Given the description of an element on the screen output the (x, y) to click on. 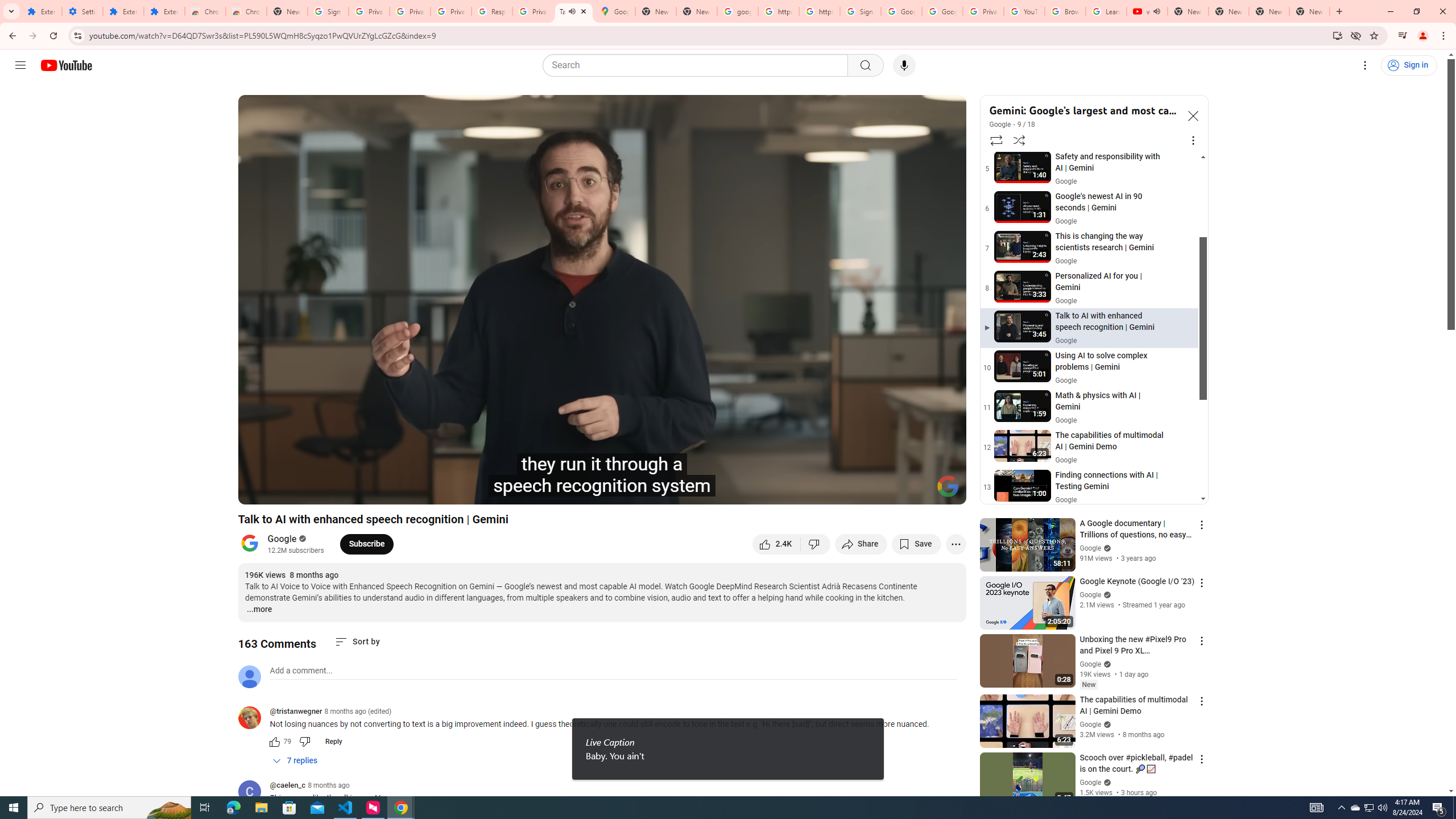
Google (999, 124)
Dislike this comment (304, 741)
Theater mode (t) (917, 490)
Extensions (41, 11)
7 replies (295, 761)
Google Maps (614, 11)
